Given the description of an element on the screen output the (x, y) to click on. 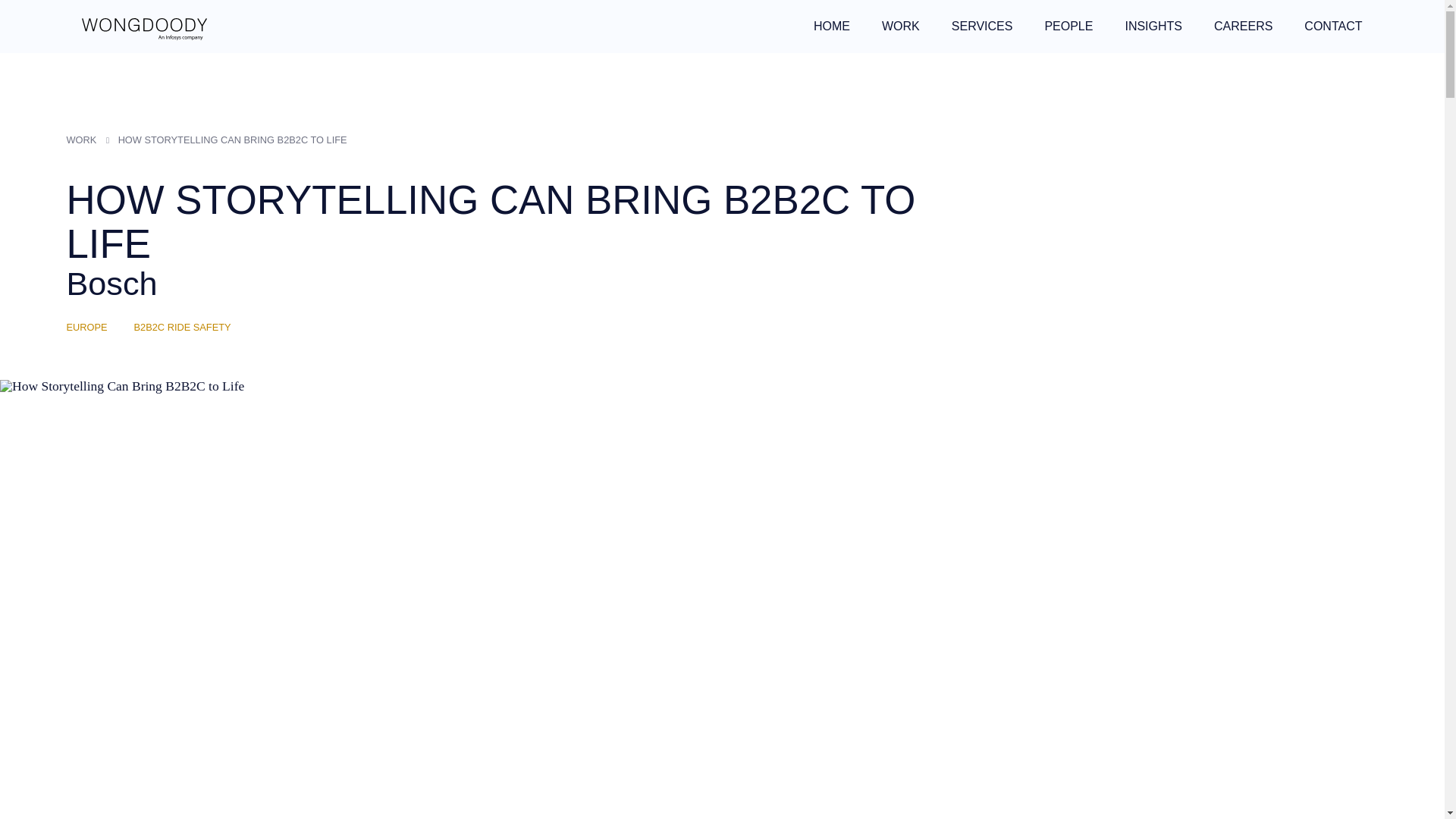
PEOPLE (1067, 26)
WORK (901, 26)
SERVICES (982, 26)
HOW STORYTELLING CAN BRING B2B2C TO LIFE (234, 139)
WORK (83, 139)
CONTACT (1332, 26)
HOME (831, 26)
INSIGHTS (1153, 26)
CAREERS (1243, 26)
